Given the description of an element on the screen output the (x, y) to click on. 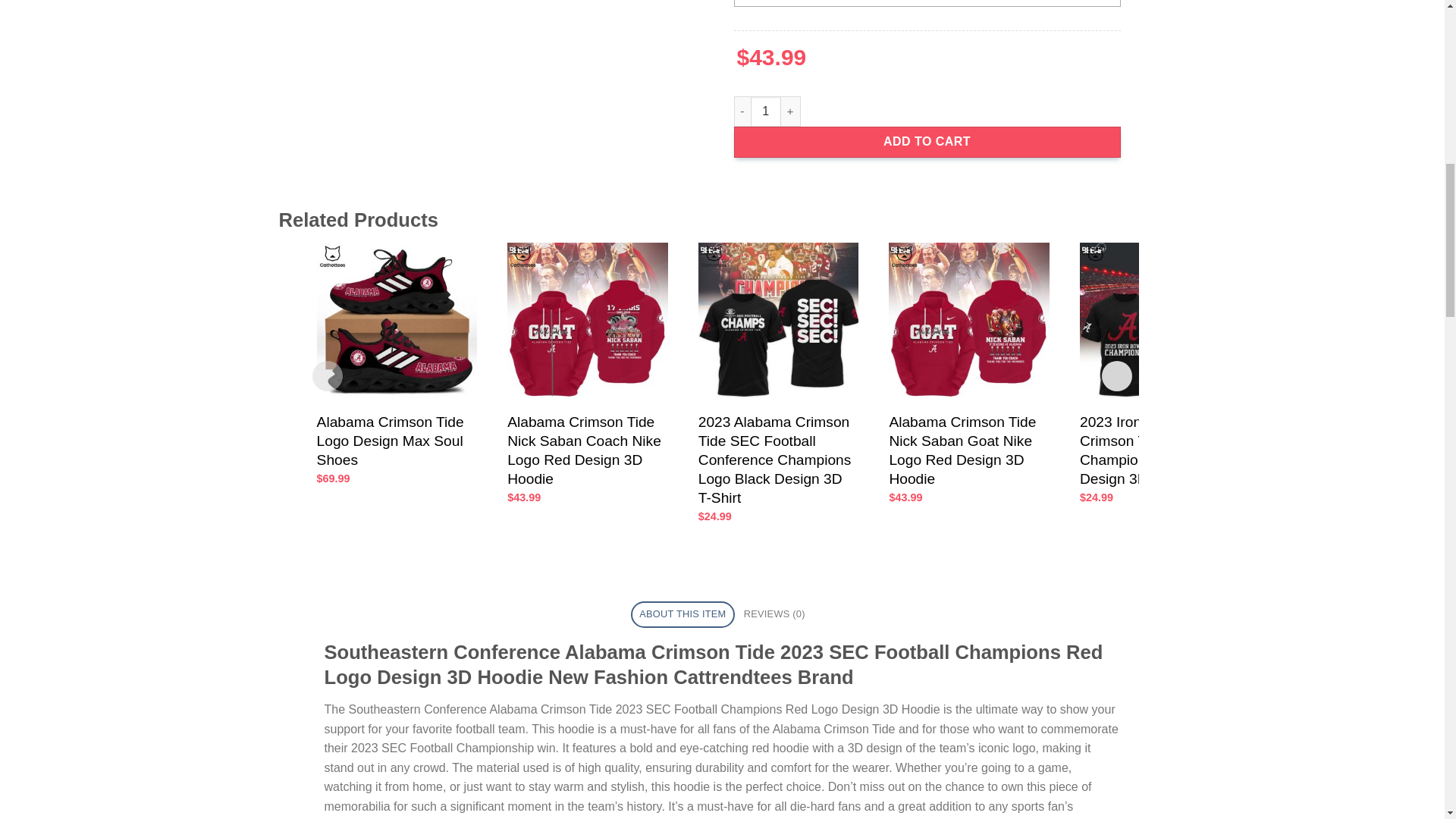
1 (765, 111)
